Given the description of an element on the screen output the (x, y) to click on. 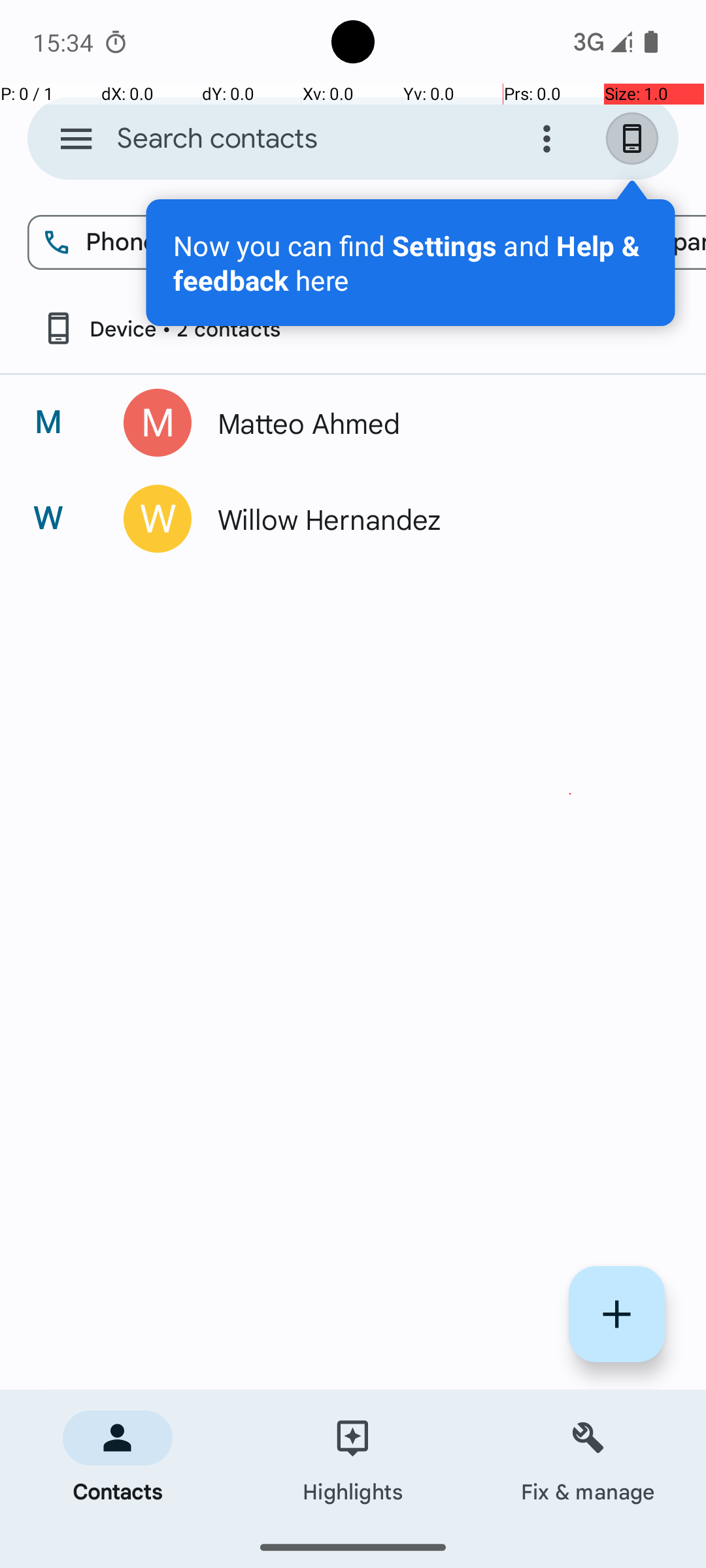
Device • 2 contacts Element type: android.widget.TextView (161, 328)
Matteo Ahmed Element type: android.widget.TextView (434, 422)
Willow Hernandez Element type: android.widget.TextView (434, 518)
